Given the description of an element on the screen output the (x, y) to click on. 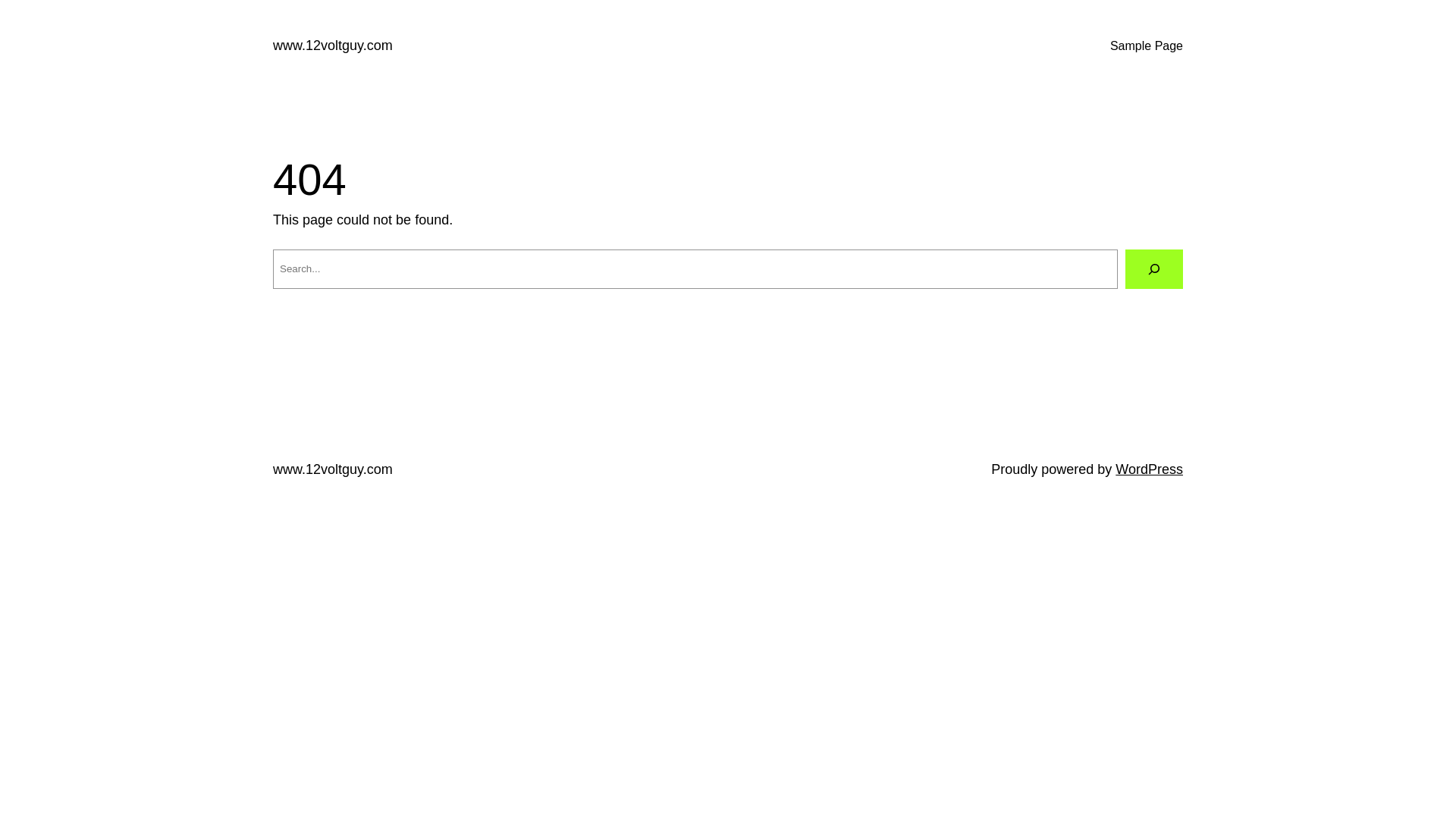
WordPress Element type: text (1149, 468)
www.12voltguy.com Element type: text (332, 468)
www.12voltguy.com Element type: text (332, 45)
Sample Page Element type: text (1146, 46)
